Given the description of an element on the screen output the (x, y) to click on. 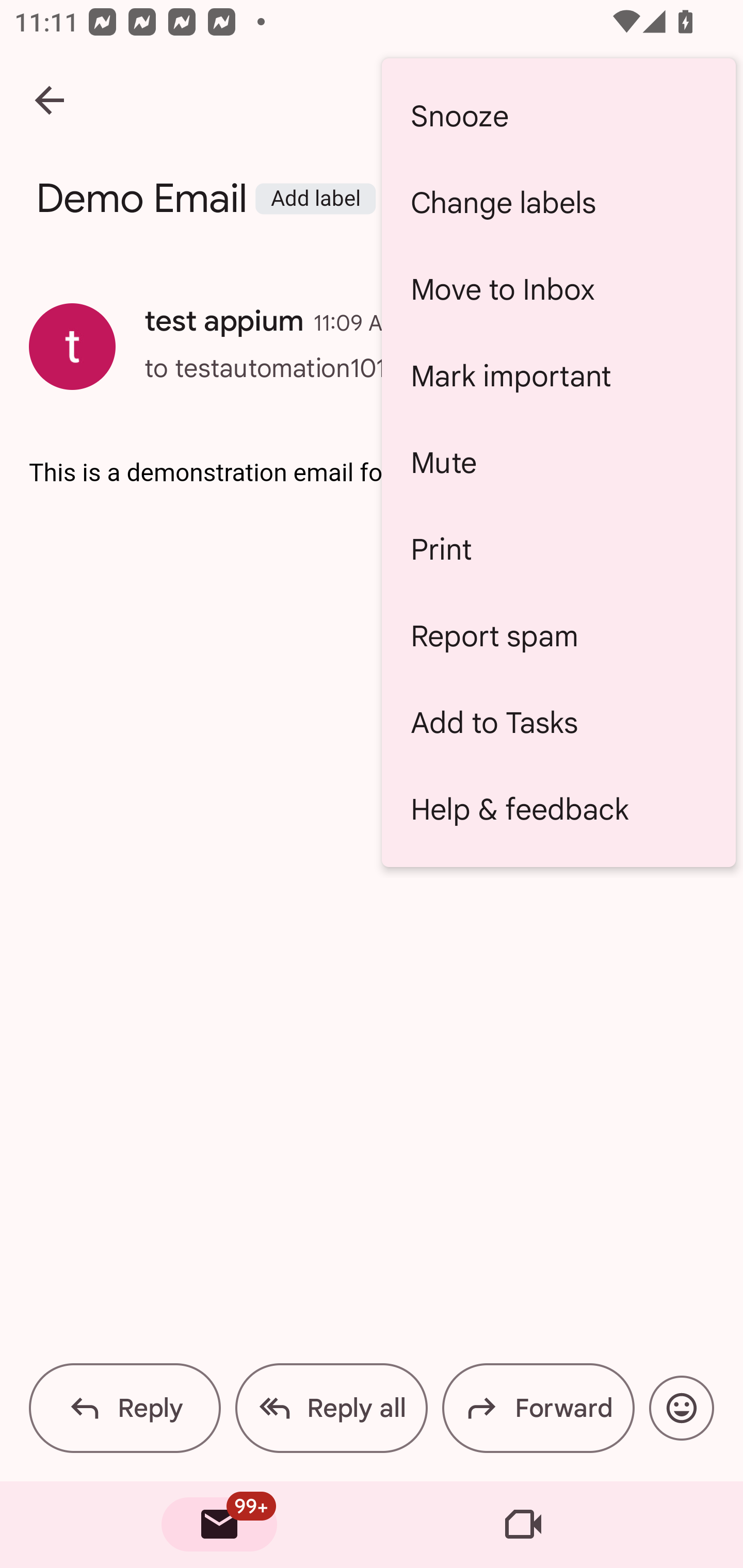
Snooze (558, 115)
Change labels (558, 202)
Move to Inbox (558, 289)
Mark important (558, 375)
Mute (558, 462)
Print (558, 549)
Report spam (558, 635)
Add to Tasks (558, 721)
Help & feedback (558, 808)
